Given the description of an element on the screen output the (x, y) to click on. 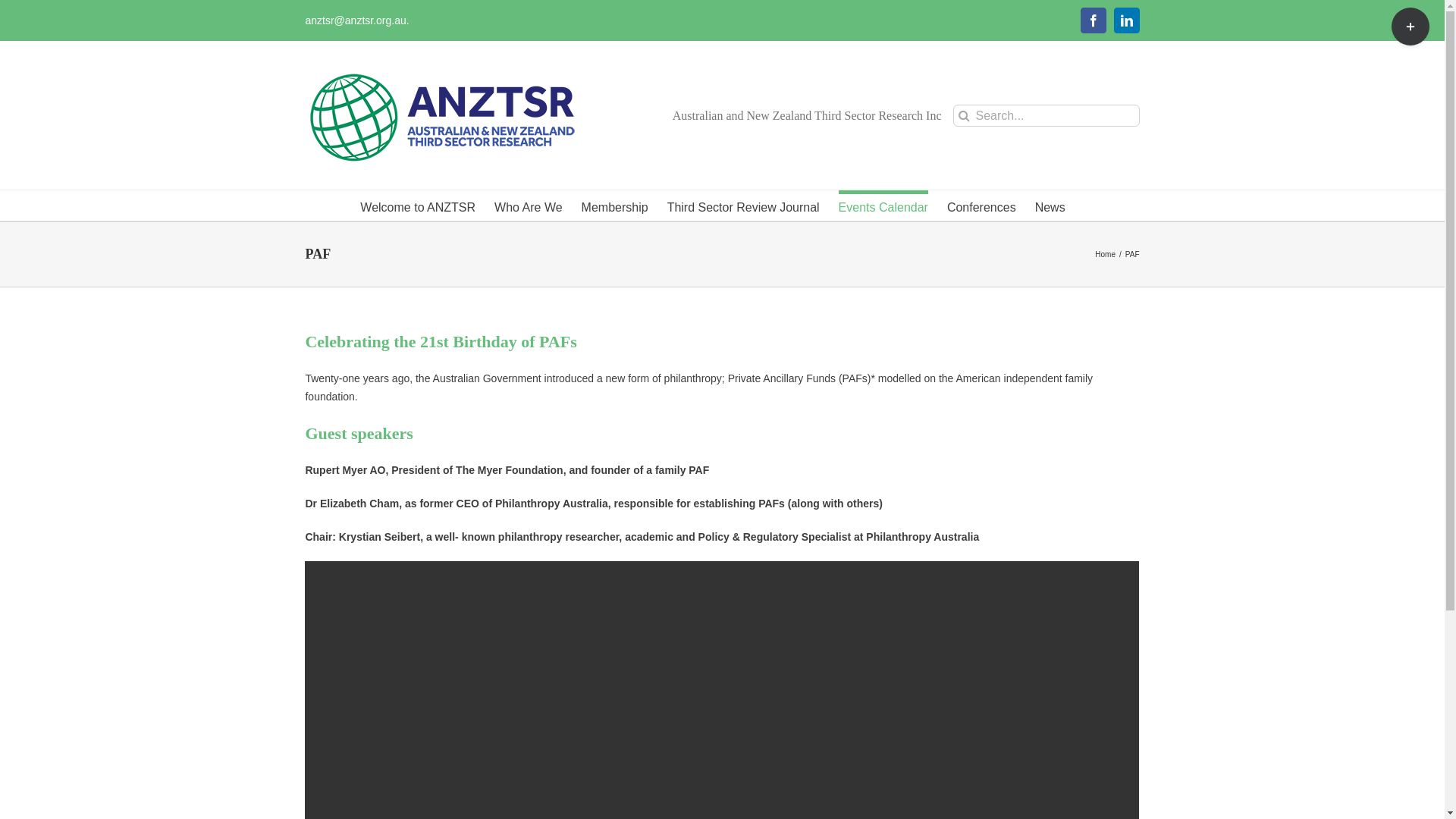
Who Are We Element type: text (528, 205)
Events Calendar Element type: text (883, 205)
News Element type: text (1050, 205)
LinkedIn Element type: text (1126, 20)
Toggle Sliding Bar Area Element type: text (1410, 26)
anztsr@anztsr.org.au. Element type: text (356, 20)
Welcome to ANZTSR Element type: text (417, 205)
Membership Element type: text (614, 205)
Third Sector Review Journal Element type: text (743, 205)
Conferences Element type: text (981, 205)
Facebook Element type: text (1093, 20)
Home Element type: text (1105, 254)
